Given the description of an element on the screen output the (x, y) to click on. 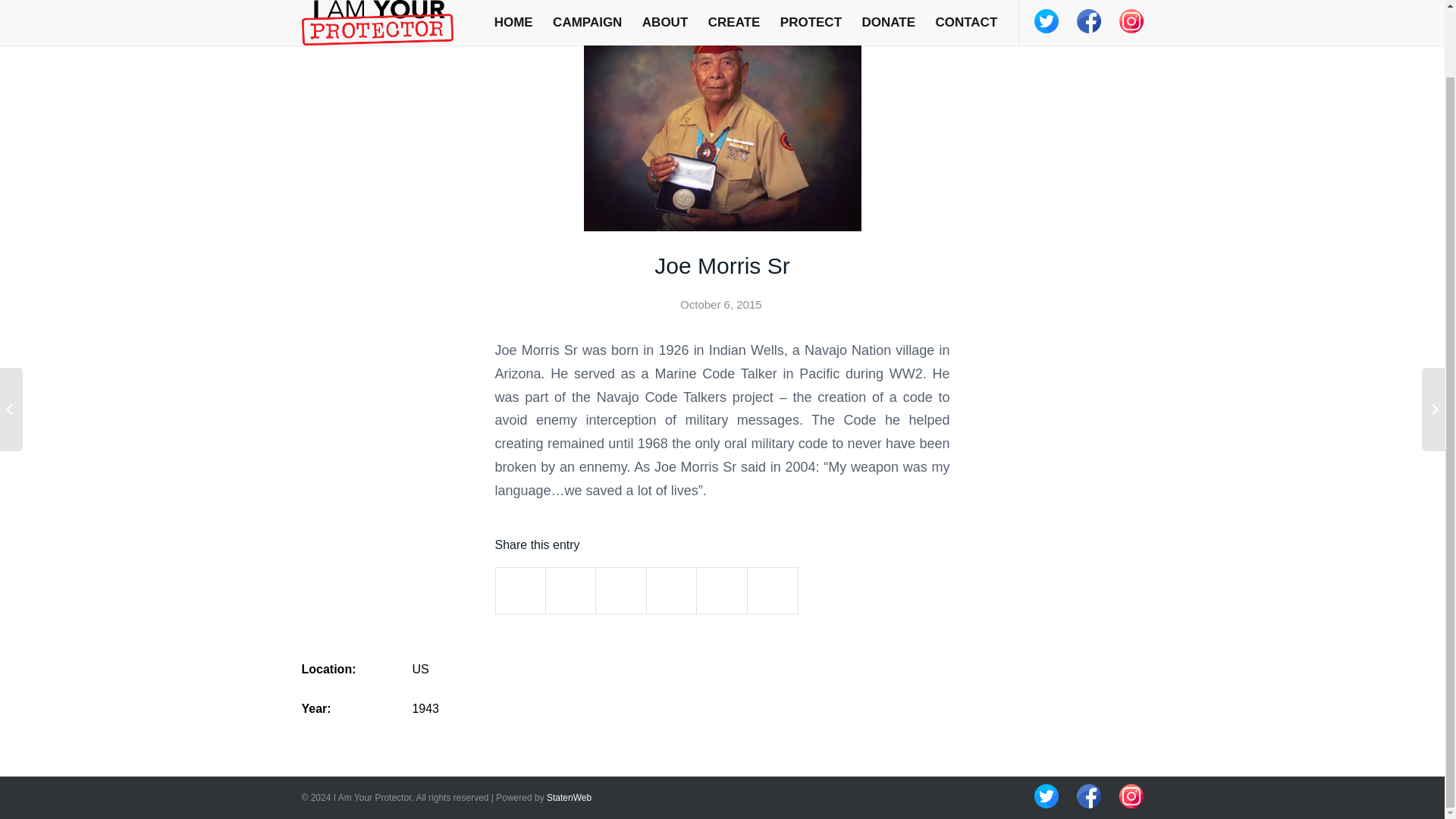
StatenWeb (569, 797)
Joe Morris Sr (721, 265)
